Given the description of an element on the screen output the (x, y) to click on. 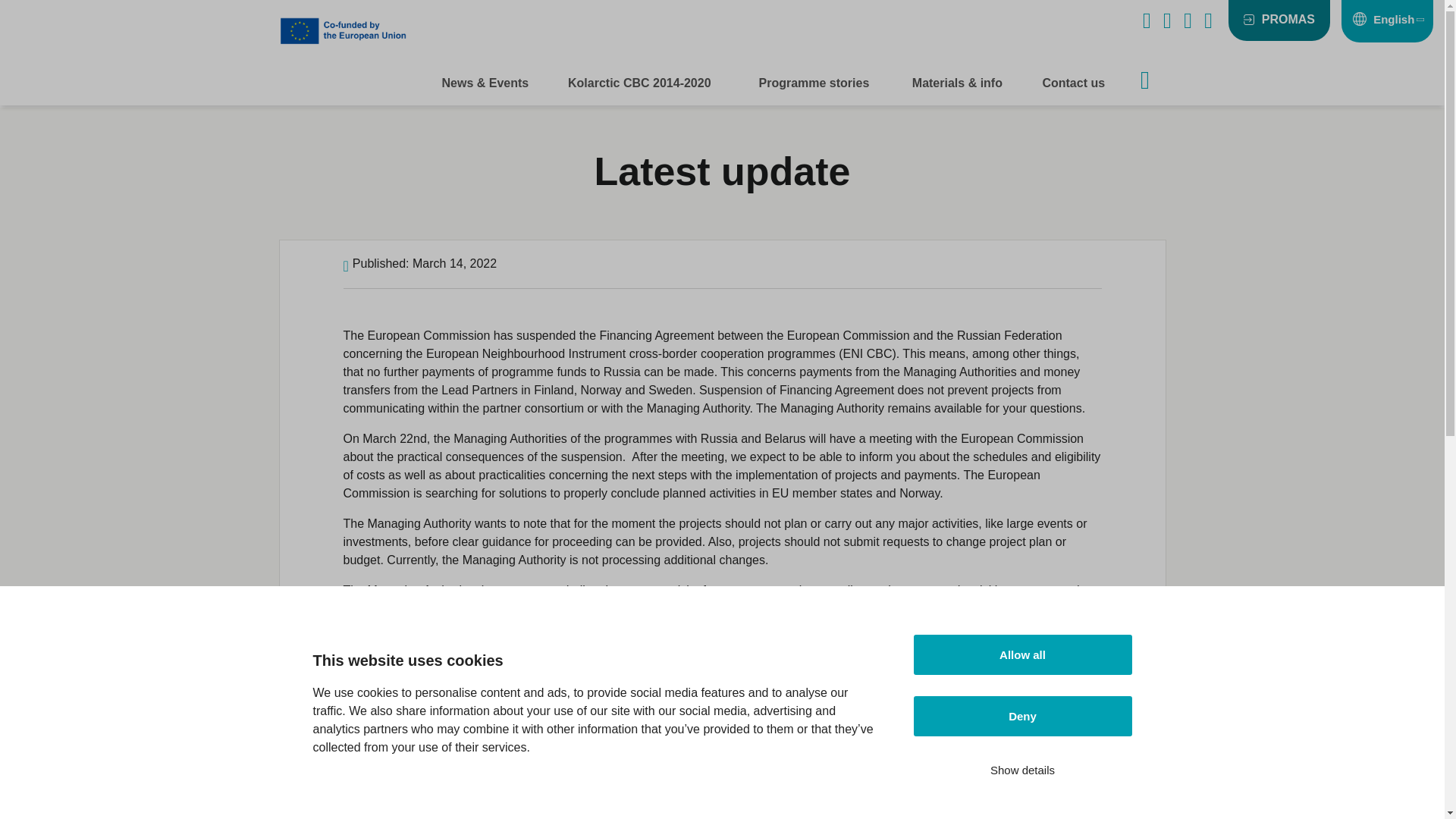
Show details (1021, 816)
Allow all (1021, 726)
Deny (1021, 782)
